Given the description of an element on the screen output the (x, y) to click on. 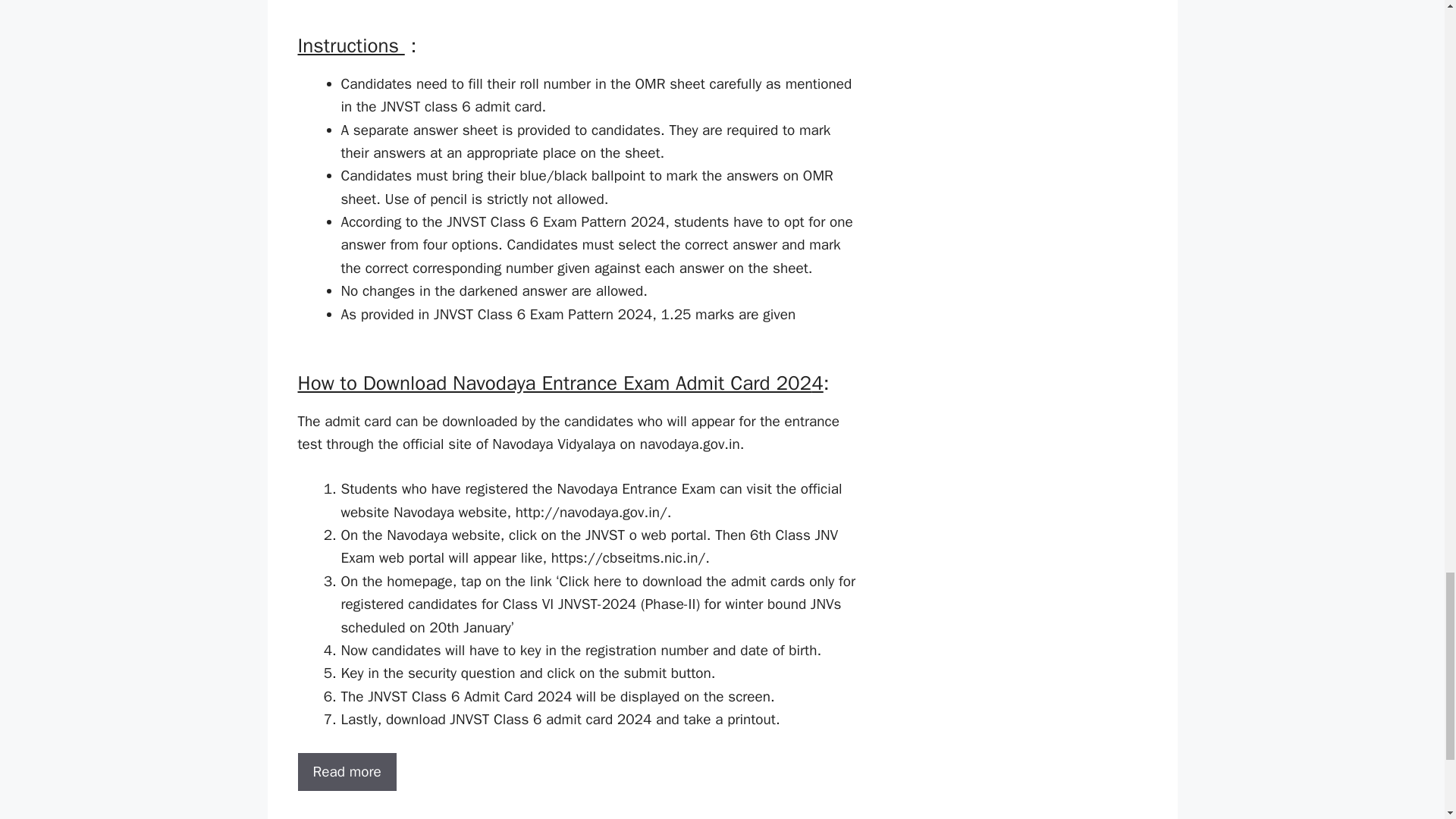
Read more (346, 771)
AP Model Schools (480, 817)
All India Admissions (371, 817)
Navodaya (561, 817)
